Given the description of an element on the screen output the (x, y) to click on. 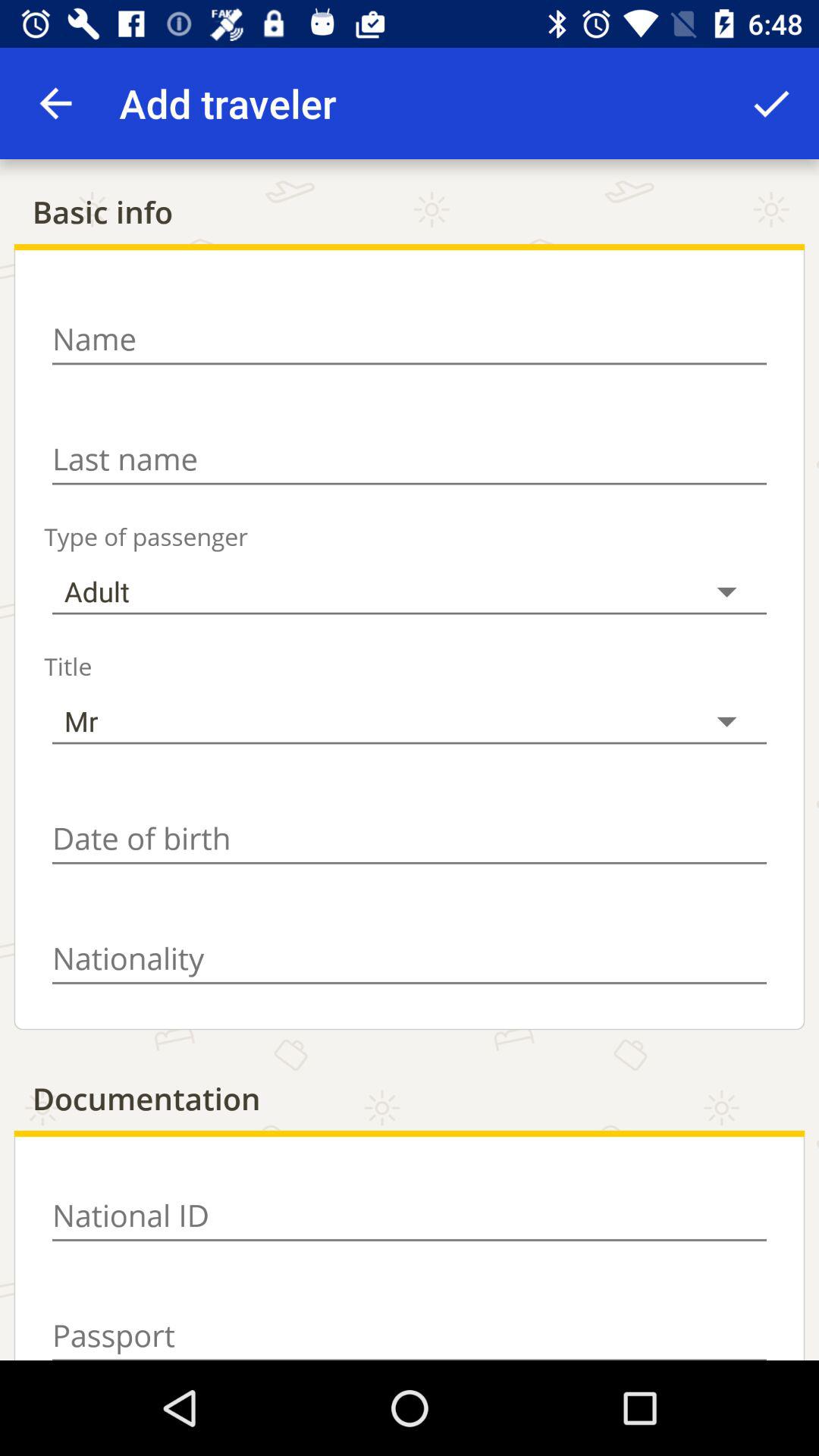
turn on app next to add traveler (55, 103)
